Given the description of an element on the screen output the (x, y) to click on. 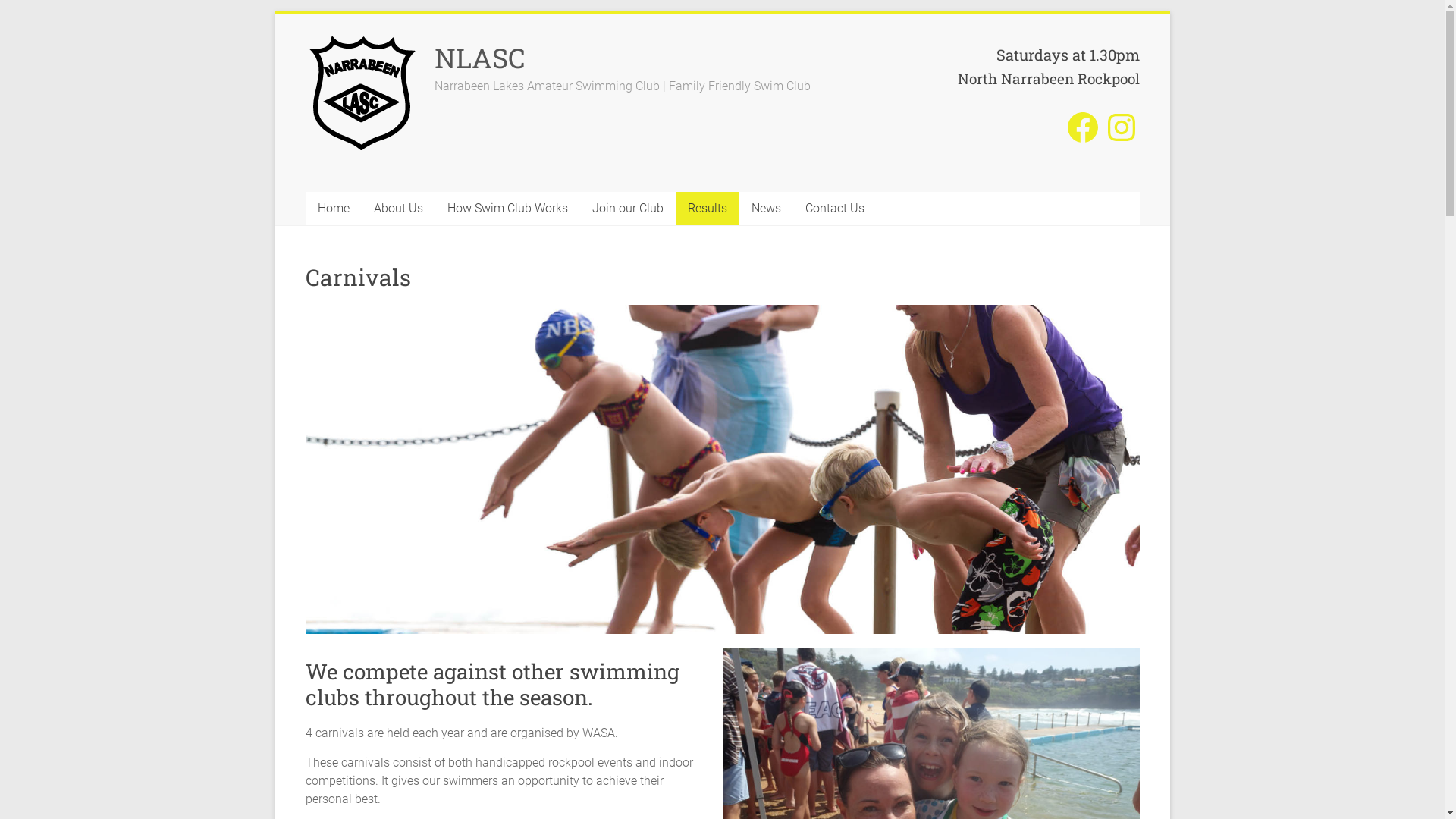
Facebook Element type: text (1082, 127)
How Swim Club Works Element type: text (507, 208)
NLASC Element type: text (478, 57)
Home Element type: text (332, 208)
News Element type: text (765, 208)
Results Element type: text (706, 208)
Contact Us Element type: text (834, 208)
Skip to content Element type: text (274, 12)
Instagram Element type: text (1120, 127)
About Us Element type: text (397, 208)
Join our Club Element type: text (626, 208)
